Given the description of an element on the screen output the (x, y) to click on. 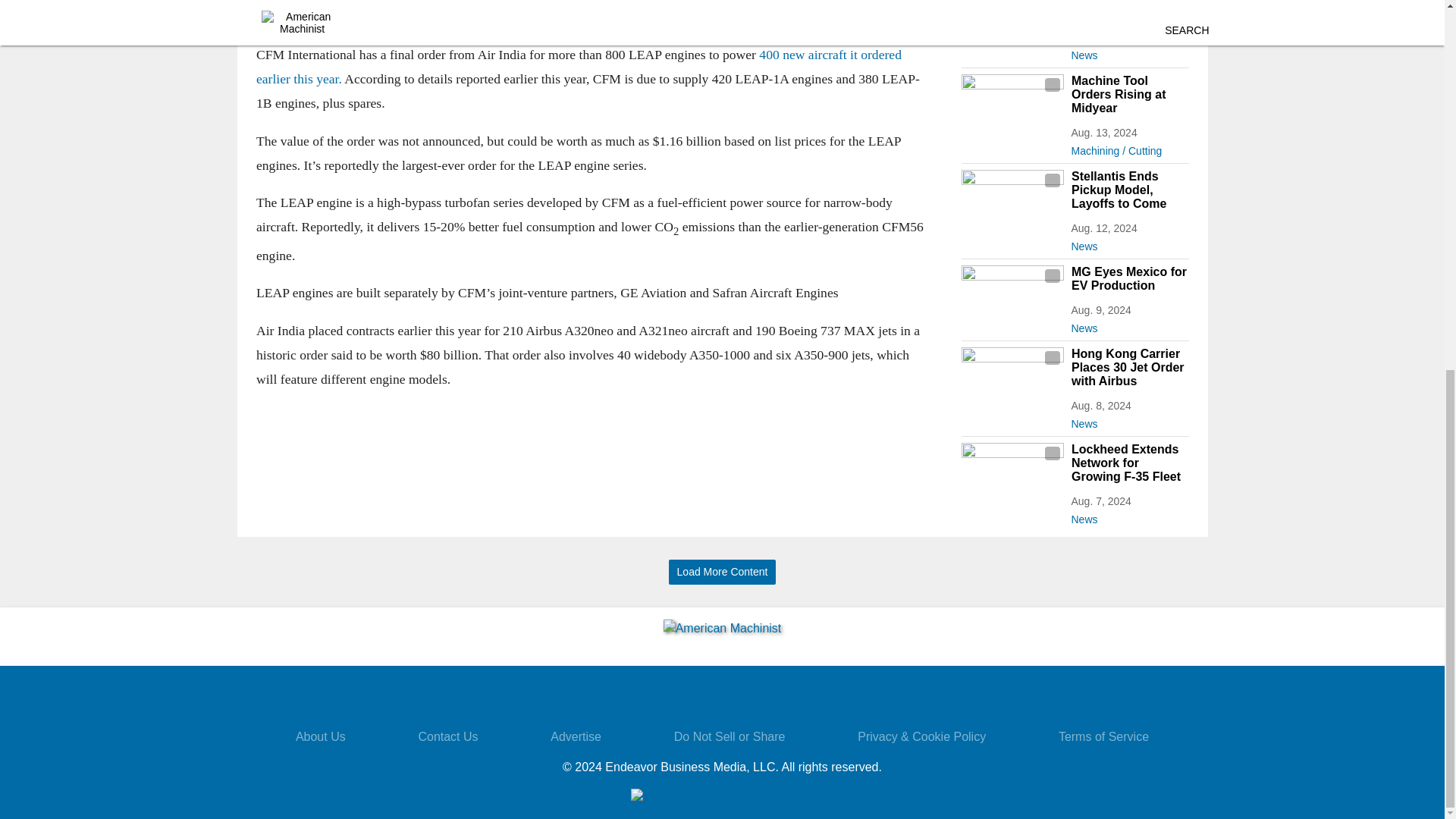
Machine Tool Orders Rising at Midyear (1129, 94)
Advertise (575, 736)
MG Eyes Mexico for EV Production (1129, 278)
Terms of Service (1103, 736)
News (1129, 515)
News (1129, 243)
Contact Us (447, 736)
Boeing Combat Helicopter Deal Worth Billions (1129, 9)
Do Not Sell or Share (730, 736)
Hong Kong Carrier Places 30 Jet Order with Airbus (1129, 367)
